Given the description of an element on the screen output the (x, y) to click on. 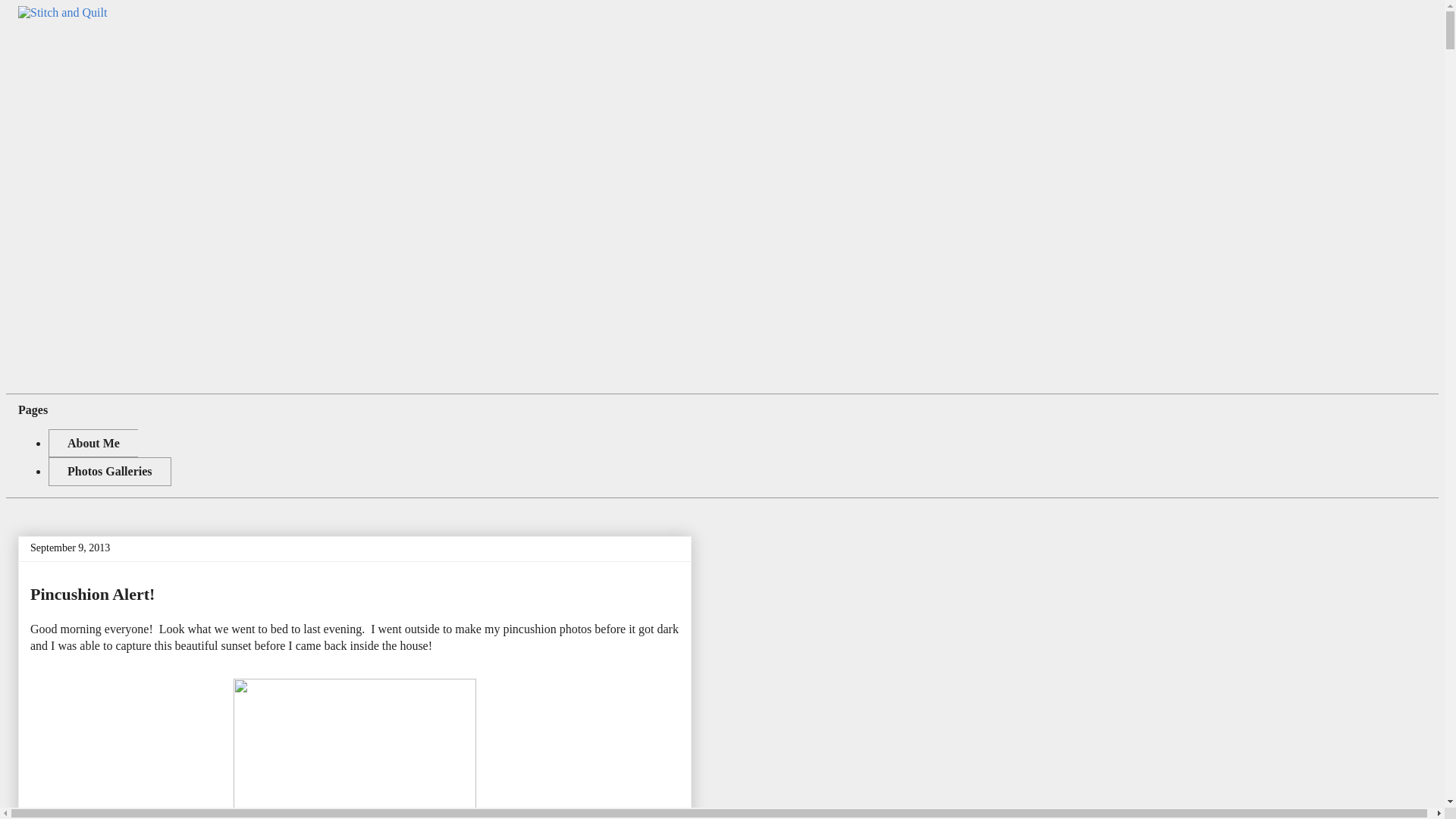
Photos Galleries (109, 471)
About Me (93, 443)
